Given the description of an element on the screen output the (x, y) to click on. 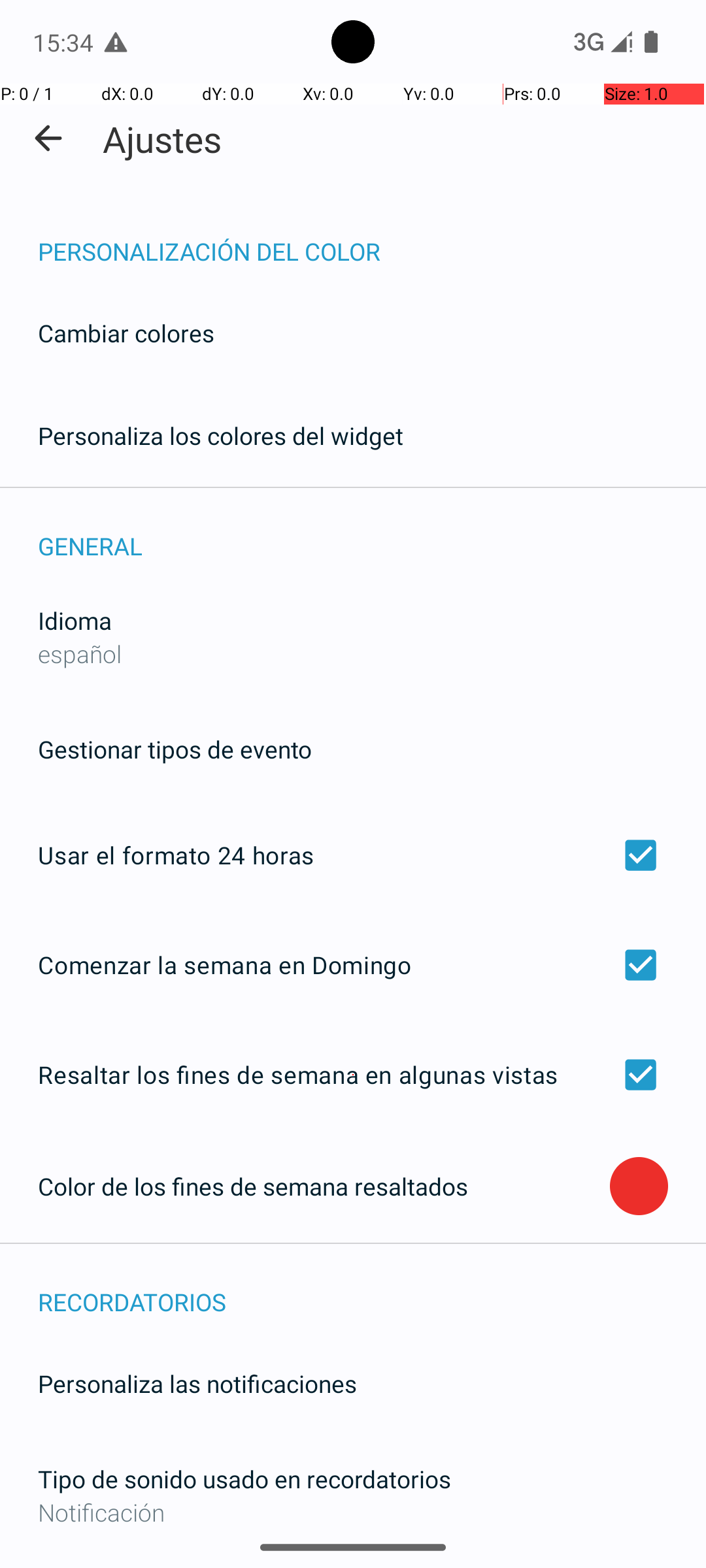
Ajustes Element type: android.widget.TextView (161, 138)
PERSONALIZACIÓN DEL COLOR Element type: android.widget.TextView (371, 237)
GENERAL Element type: android.widget.TextView (371, 532)
RECORDATORIOS Element type: android.widget.TextView (371, 1287)
Cambiar colores Element type: android.widget.TextView (125, 332)
Personaliza los colores del widget Element type: android.widget.TextView (220, 435)
Idioma Element type: android.widget.TextView (74, 620)
español Element type: android.widget.TextView (79, 653)
Gestionar tipos de evento Element type: android.widget.TextView (174, 748)
Usar el formato 24 horas Element type: android.widget.CheckBox (352, 855)
Comenzar la semana en Domingo Element type: android.widget.CheckBox (352, 964)
Resaltar los fines de semana en algunas vistas Element type: android.widget.CheckBox (352, 1074)
Color de los fines de semana resaltados Element type: android.widget.TextView (323, 1186)
Personaliza las notificaciones Element type: android.widget.TextView (196, 1383)
Tipo de sonido usado en recordatorios Element type: android.widget.TextView (244, 1478)
Notificación Element type: android.widget.TextView (352, 1511)
